Given the description of an element on the screen output the (x, y) to click on. 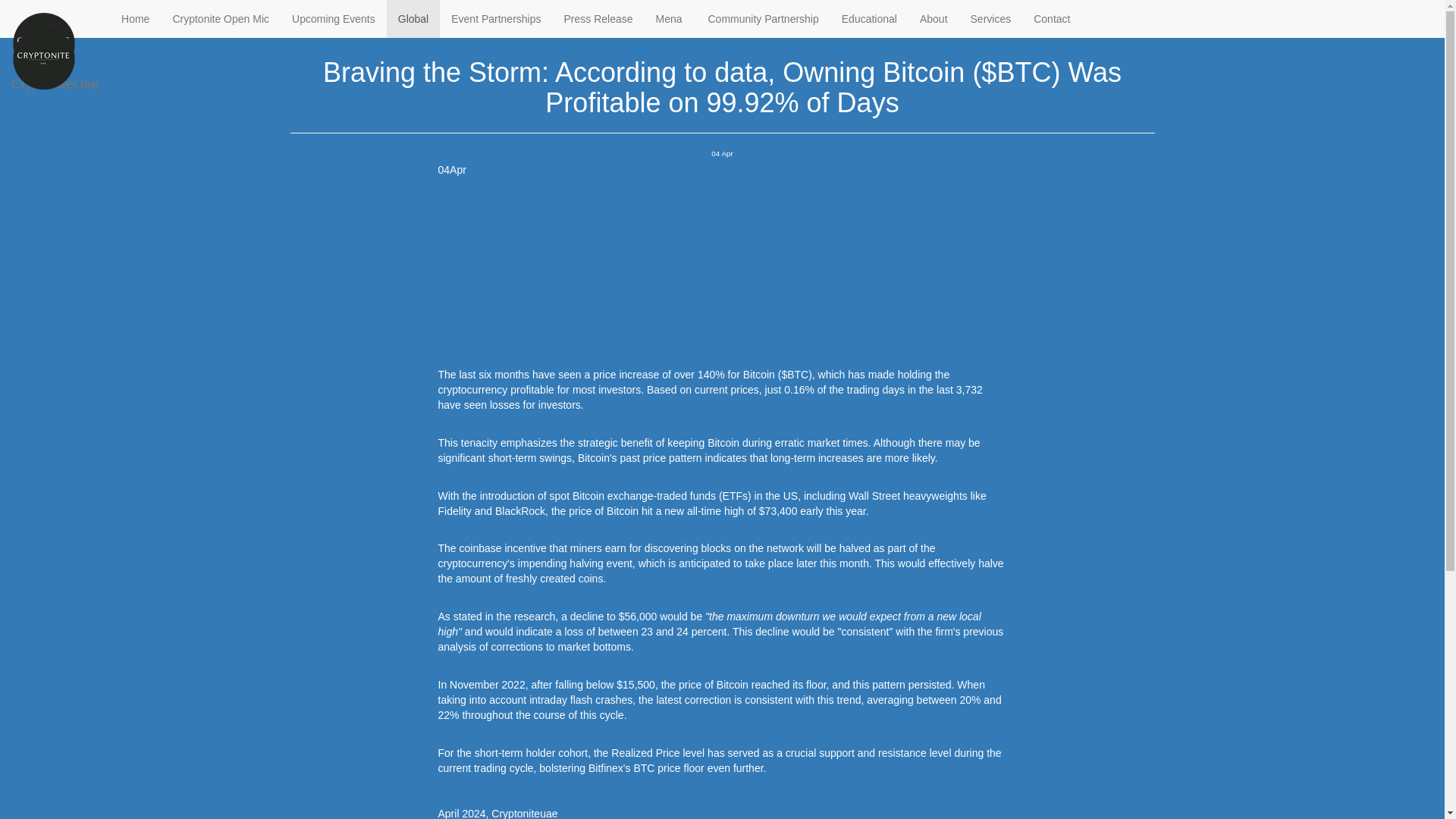
Global (346, 12)
Global (413, 18)
Upcoming Events (334, 18)
Contact (1051, 18)
Cryptonite Open Mic (220, 18)
Event Partnerships (495, 18)
Mena  (671, 18)
Services (991, 18)
Educational (868, 18)
Home (303, 12)
